Given the description of an element on the screen output the (x, y) to click on. 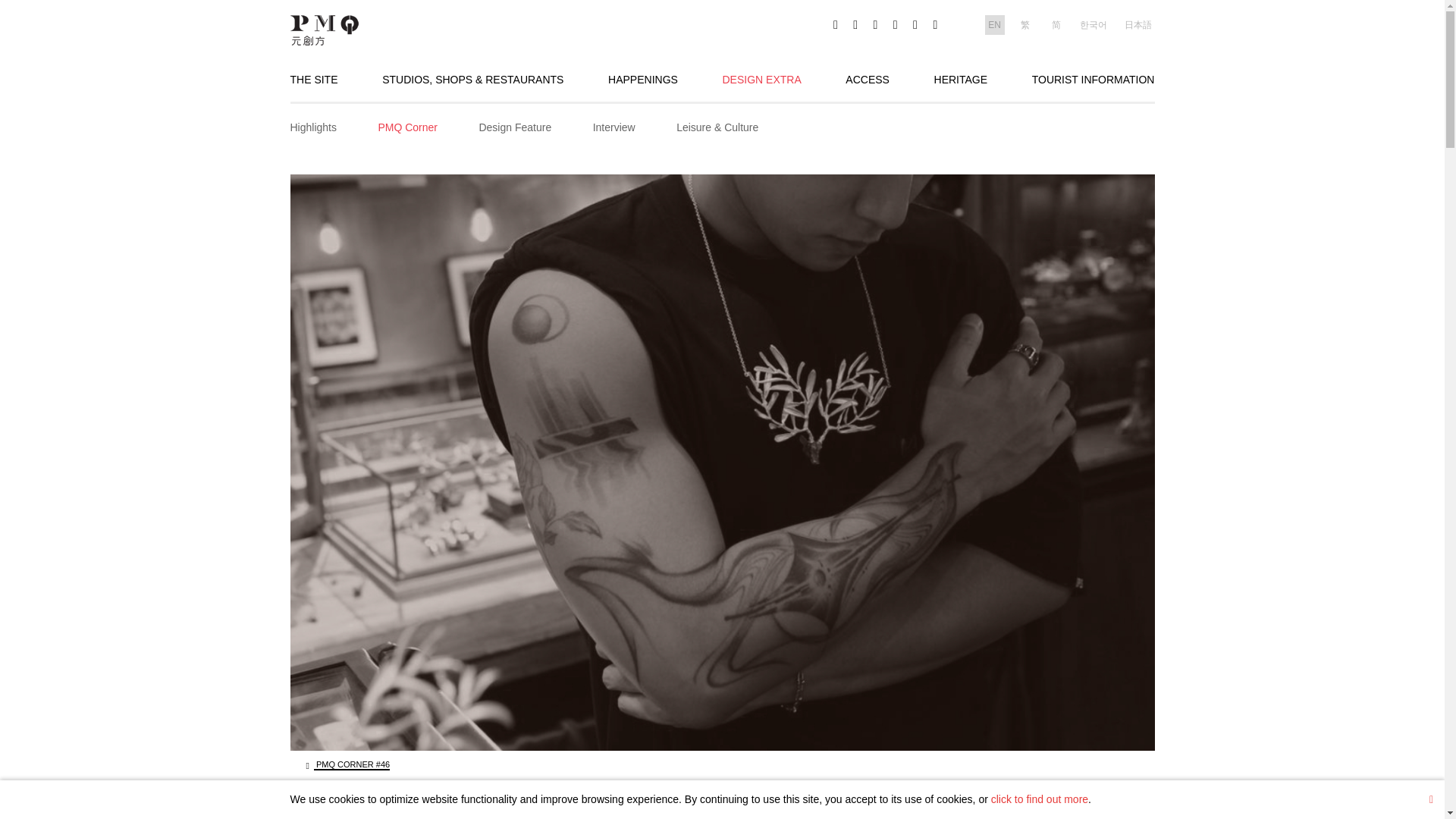
THE SITE (313, 79)
Design Feature (515, 127)
DESIGN EXTRA (761, 79)
Interview (613, 127)
Highlights (312, 127)
ACCESS (867, 79)
EN (994, 23)
TOURIST INFORMATION (1093, 79)
EN (994, 25)
PMQ Corner (407, 127)
